Given the description of an element on the screen output the (x, y) to click on. 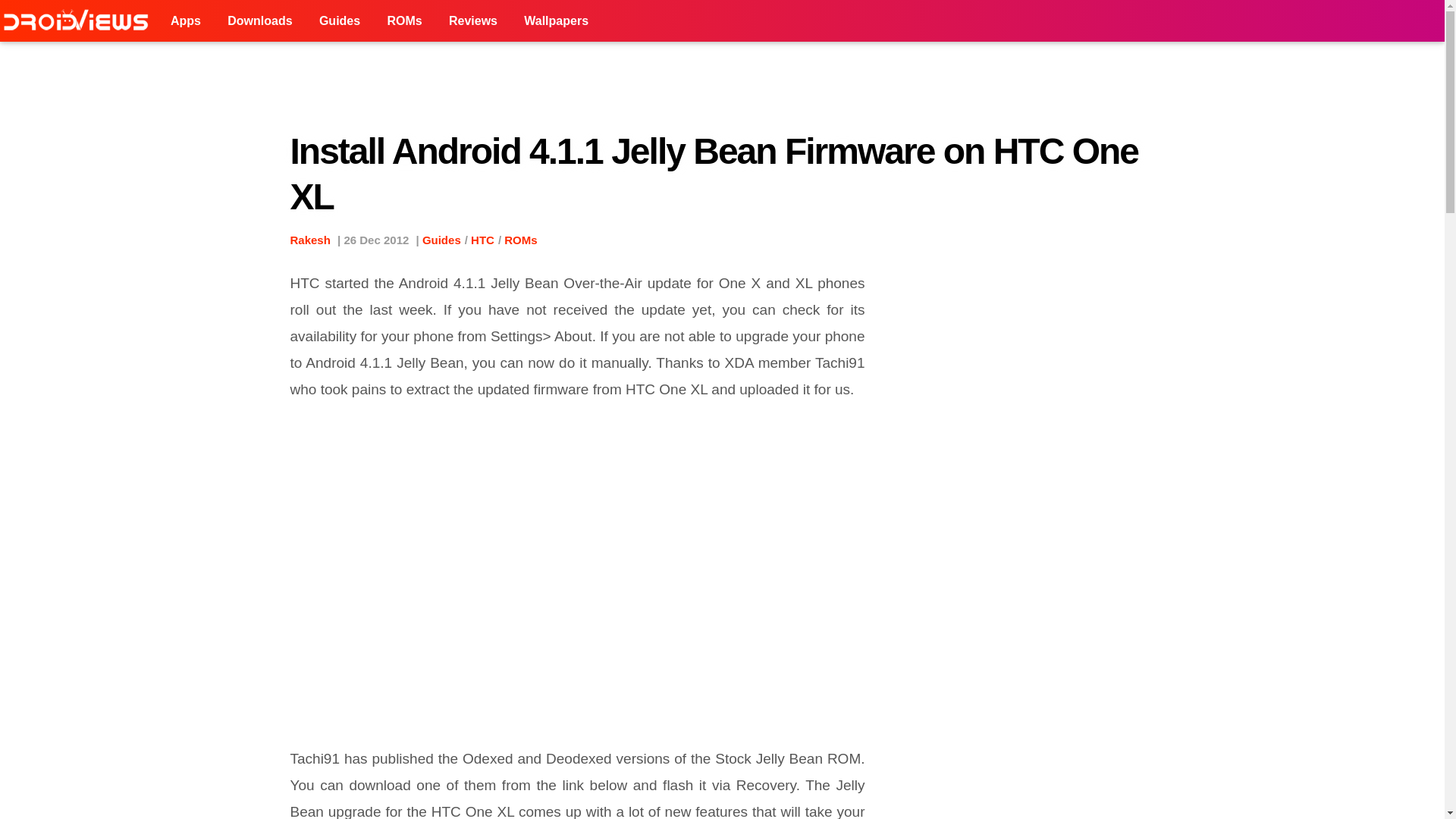
Apps (185, 20)
DroidViews (79, 20)
ROMs (520, 239)
Wallpapers (555, 20)
HTC (482, 239)
Reviews (473, 20)
Guides (339, 20)
Downloads (258, 20)
Rakesh (309, 239)
Guides (441, 239)
